Given the description of an element on the screen output the (x, y) to click on. 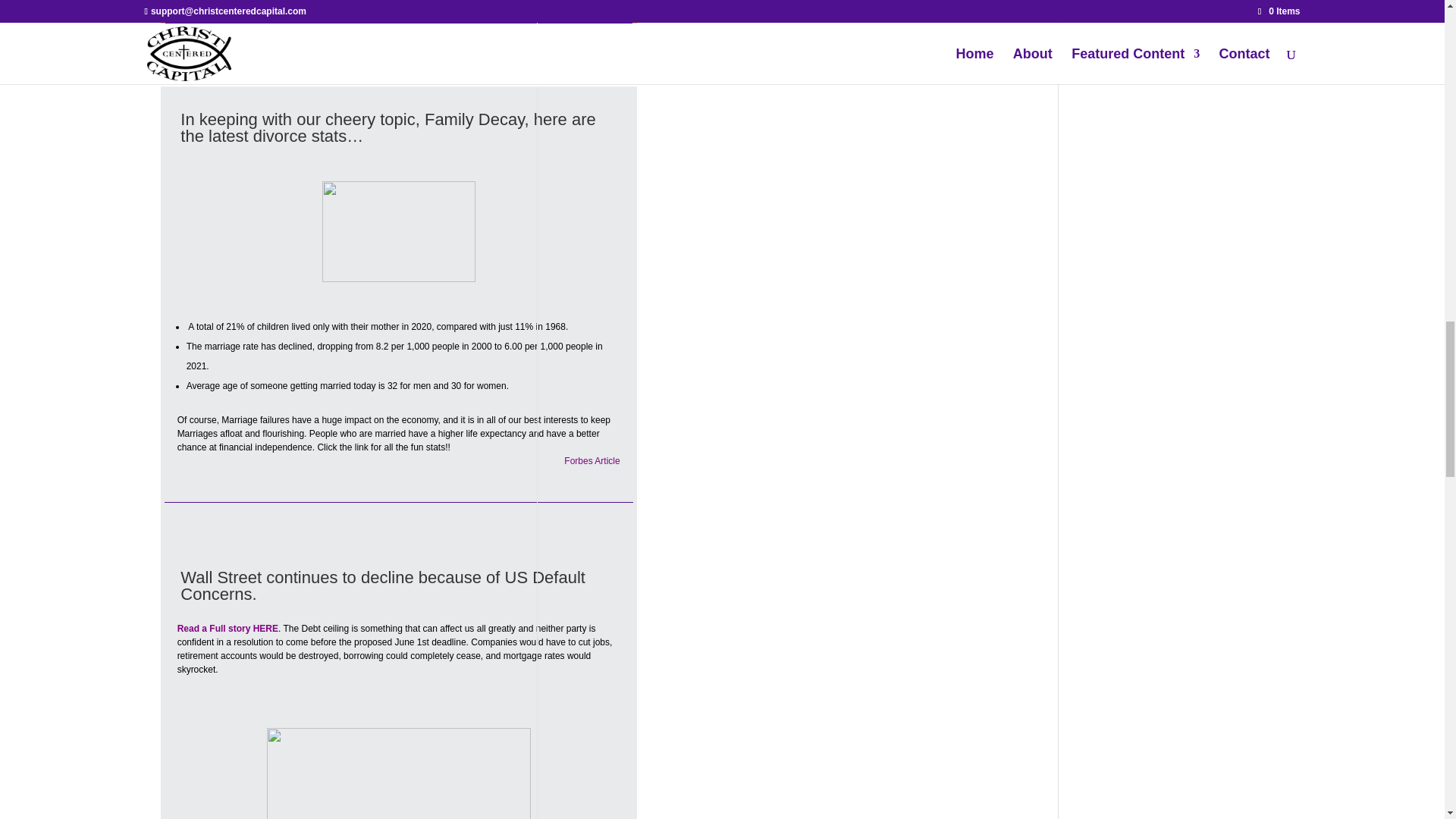
Forbes Article (592, 460)
Read a Full story HERE (227, 628)
